Given the description of an element on the screen output the (x, y) to click on. 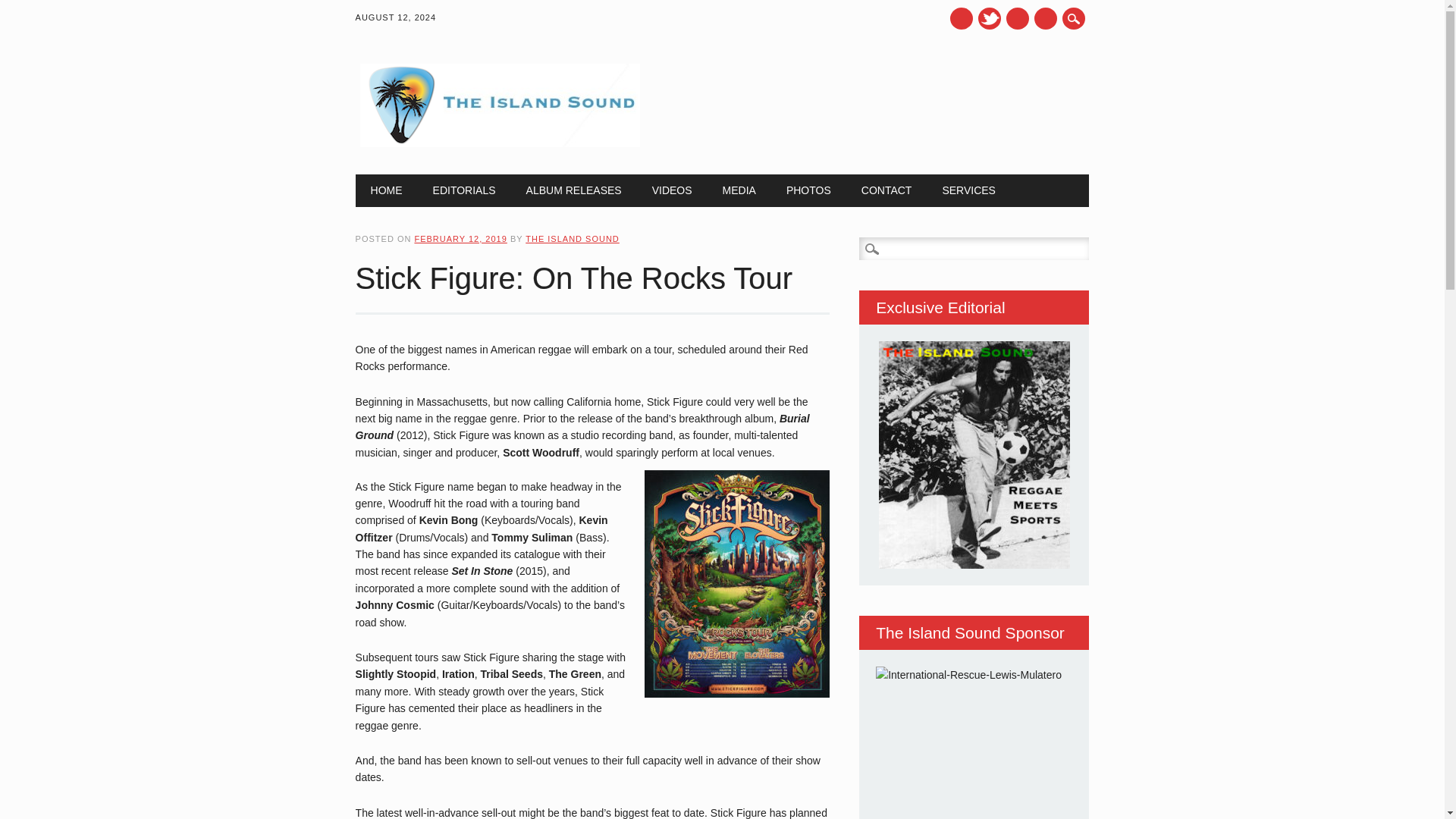
MEDIA (739, 190)
VIDEOS (672, 190)
Skip to content (390, 182)
Search (29, 11)
12:00 AM (459, 238)
PHOTOS (808, 190)
HOME (386, 190)
ALBUM RELEASES (574, 190)
Skip to content (390, 182)
CONTACT (886, 190)
